Given the description of an element on the screen output the (x, y) to click on. 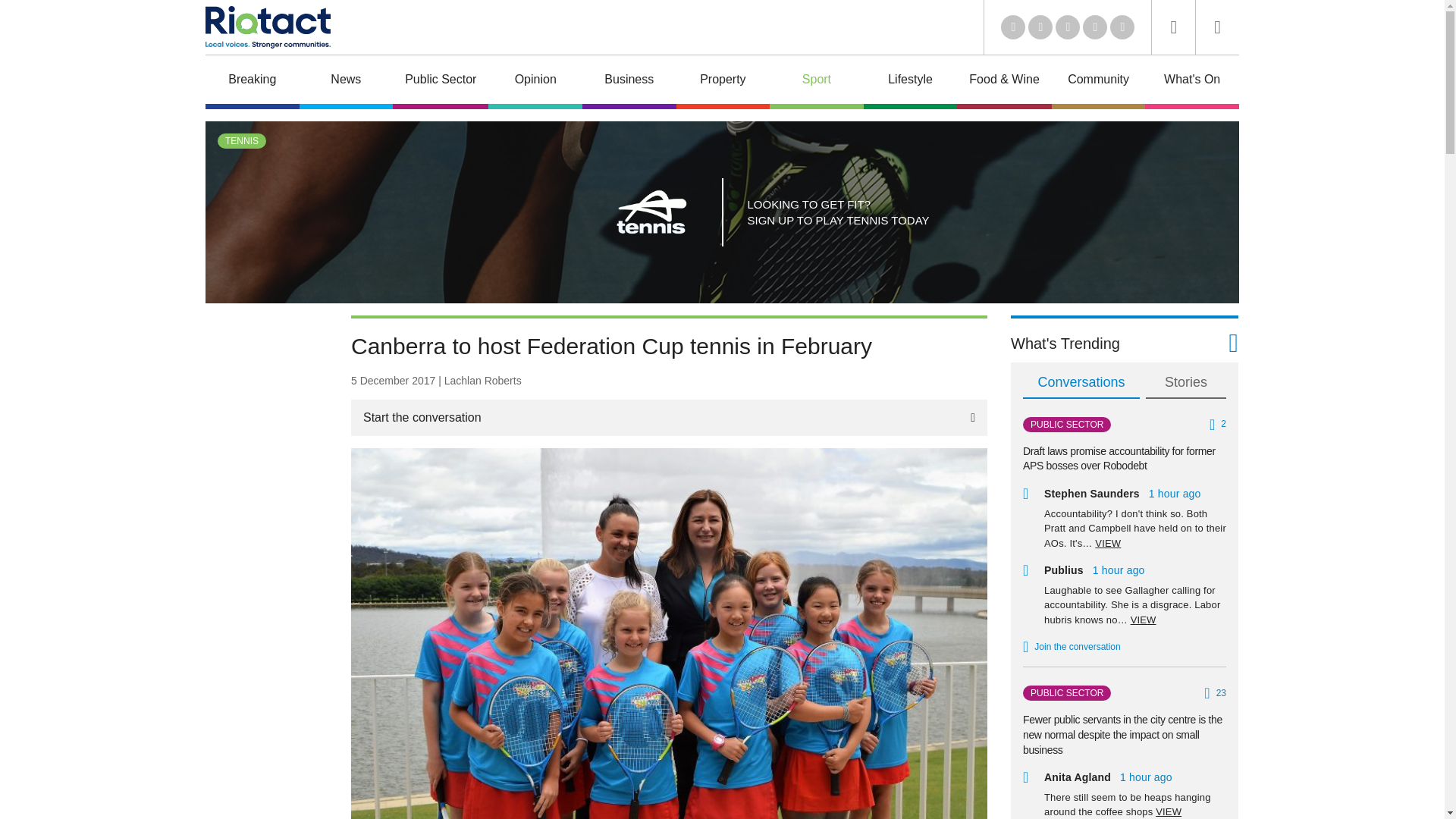
News (346, 81)
Twitter (1039, 27)
Riotact Home (267, 26)
LinkedIn (1013, 27)
Facebook (1094, 27)
Youtube (1067, 27)
Instagram (1121, 27)
Breaking (252, 81)
